Given the description of an element on the screen output the (x, y) to click on. 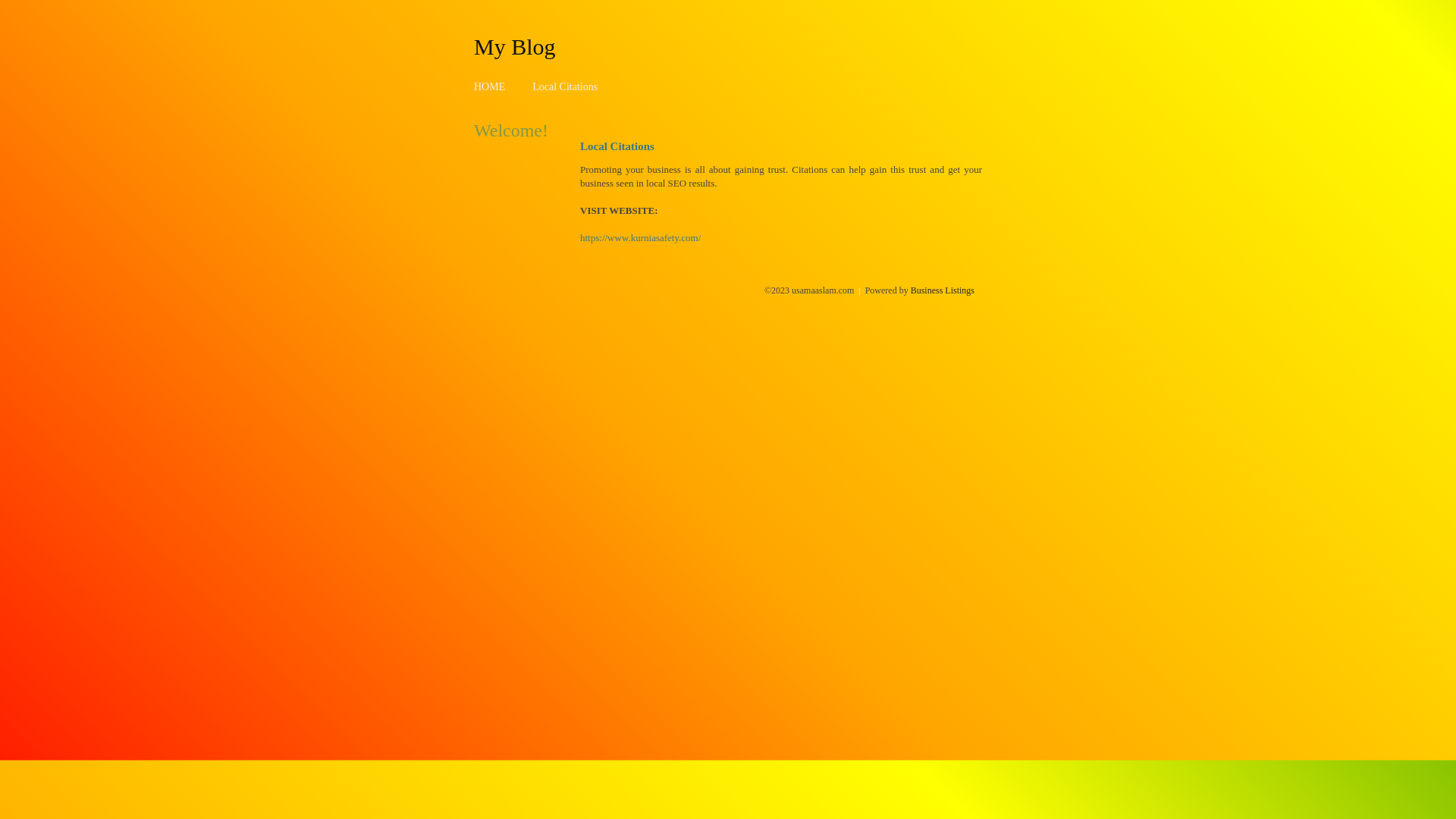
Local Citations Element type: text (564, 86)
HOME Element type: text (489, 86)
My Blog Element type: text (514, 46)
https://www.kurniasafety.com/ Element type: text (640, 237)
Business Listings Element type: text (942, 290)
